Given the description of an element on the screen output the (x, y) to click on. 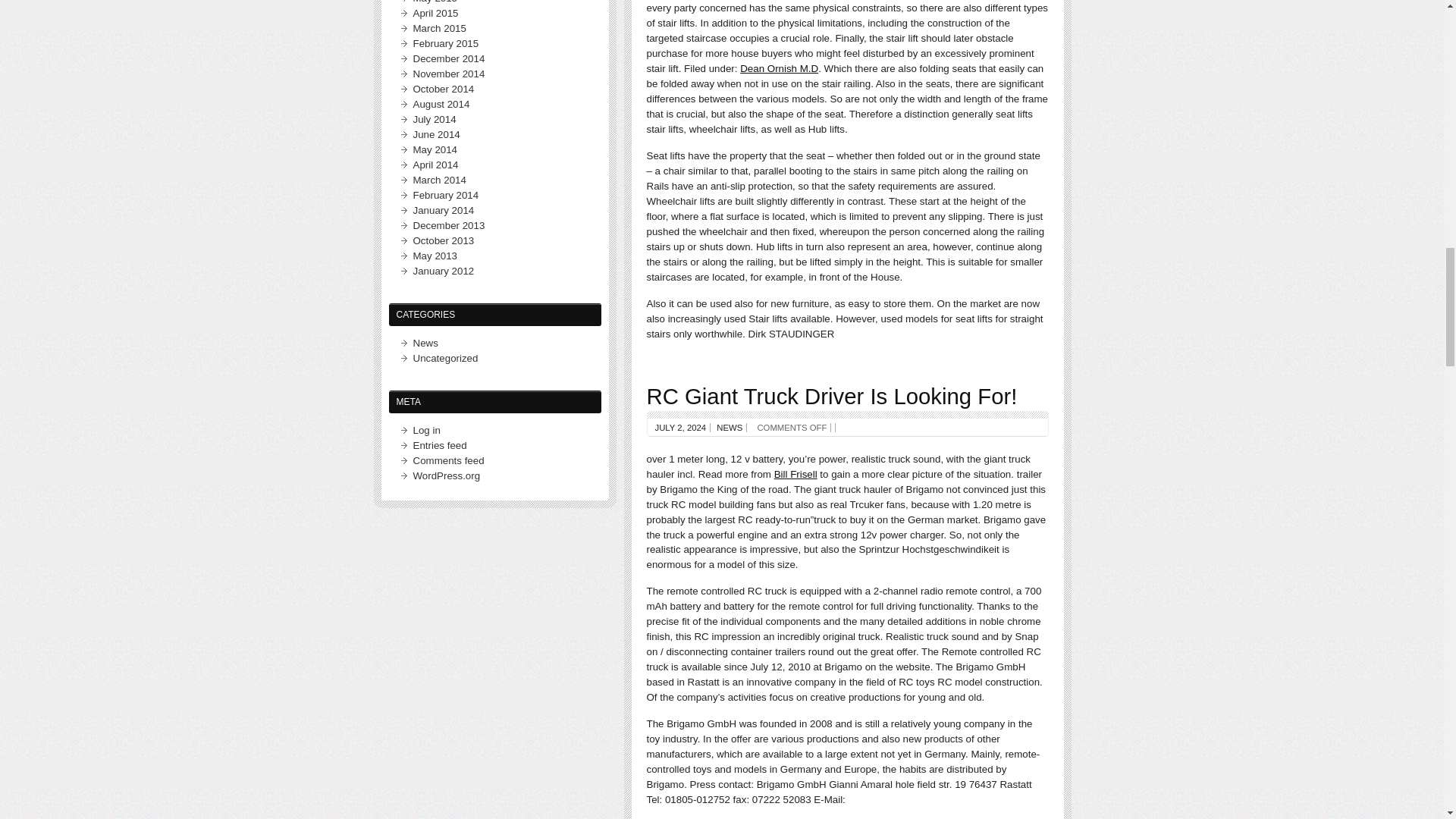
NEWS (729, 427)
Dean Ornish M.D (778, 68)
JULY 2, 2024 (680, 427)
Bill Frisell (795, 473)
RC Giant Truck Driver Is Looking For! (831, 396)
